Given the description of an element on the screen output the (x, y) to click on. 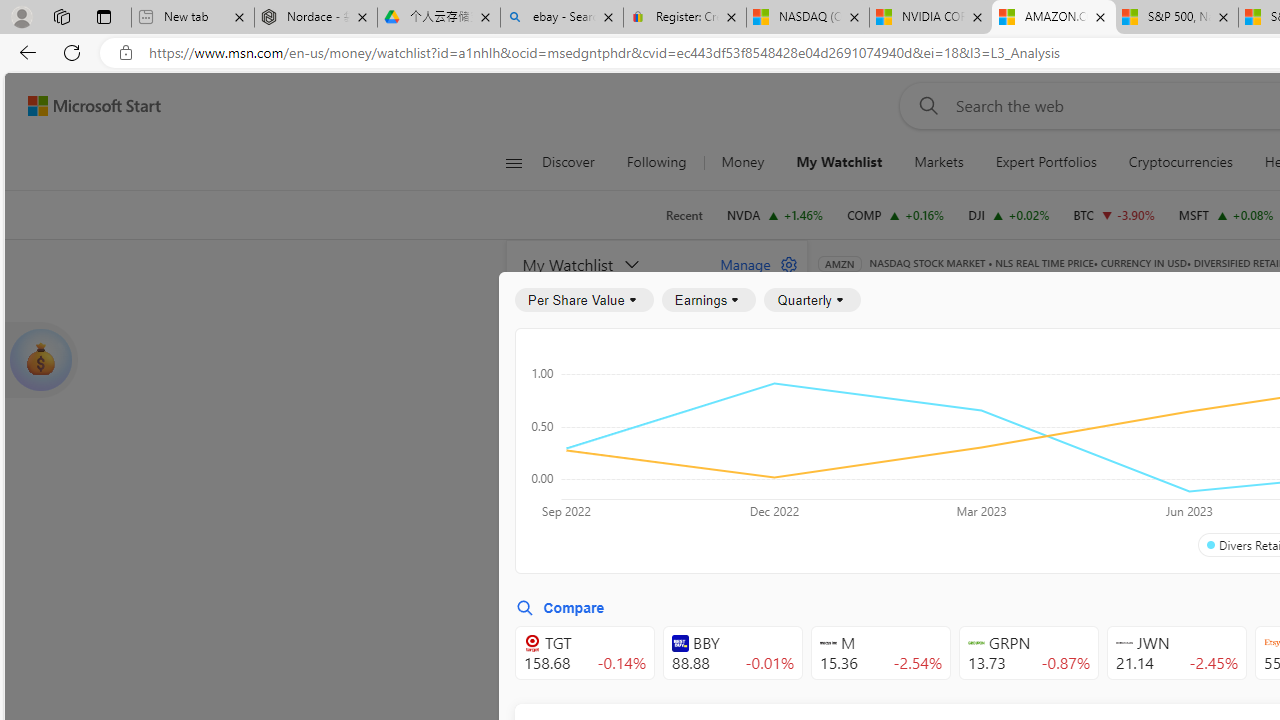
Compare (559, 608)
Open navigation menu (513, 162)
add to your watchlist (786, 680)
Following (656, 162)
Growth Rates (1058, 445)
Markets (938, 162)
remove from your watchlist (786, 498)
Profitability (1164, 445)
My Watchlist (839, 162)
Cryptocurrencies (1180, 162)
Balance Sheet (1079, 391)
Following (658, 162)
Workspaces (61, 16)
Money (742, 162)
